Given the description of an element on the screen output the (x, y) to click on. 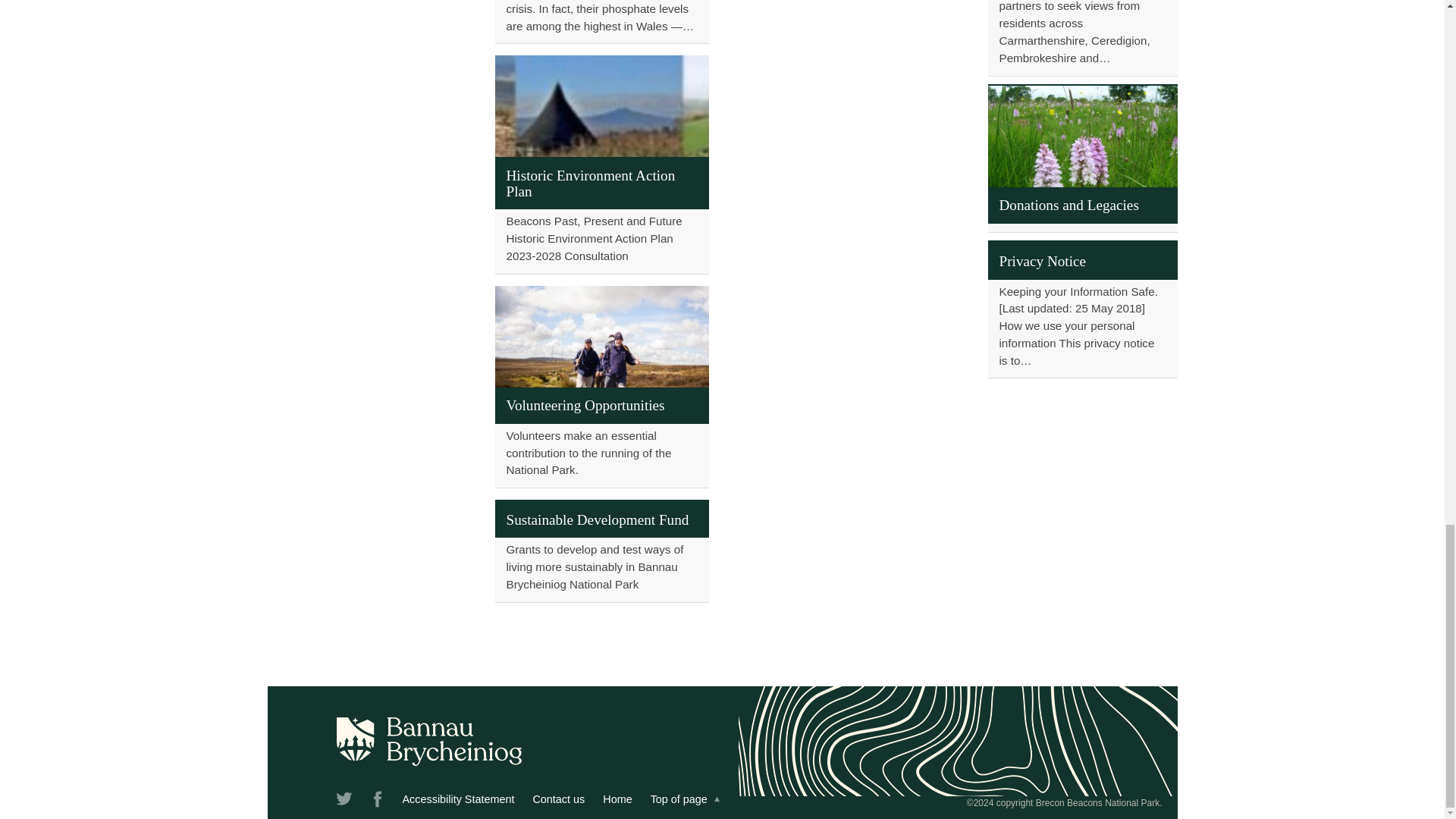
Follow us on Twitter (344, 801)
Bannau Brycheiniog National Park Authority Privacy Notice (1081, 309)
Private: Strategic Equality Plan (1081, 38)
Historic Environment Action Plan (601, 163)
Donations and Legacies (1081, 158)
Brecon Beacons National Park homepage (616, 799)
Volunteering Opportunities (601, 386)
Get our updates on Facebook (378, 801)
Sustainable Development Fund (601, 550)
